Given the description of an element on the screen output the (x, y) to click on. 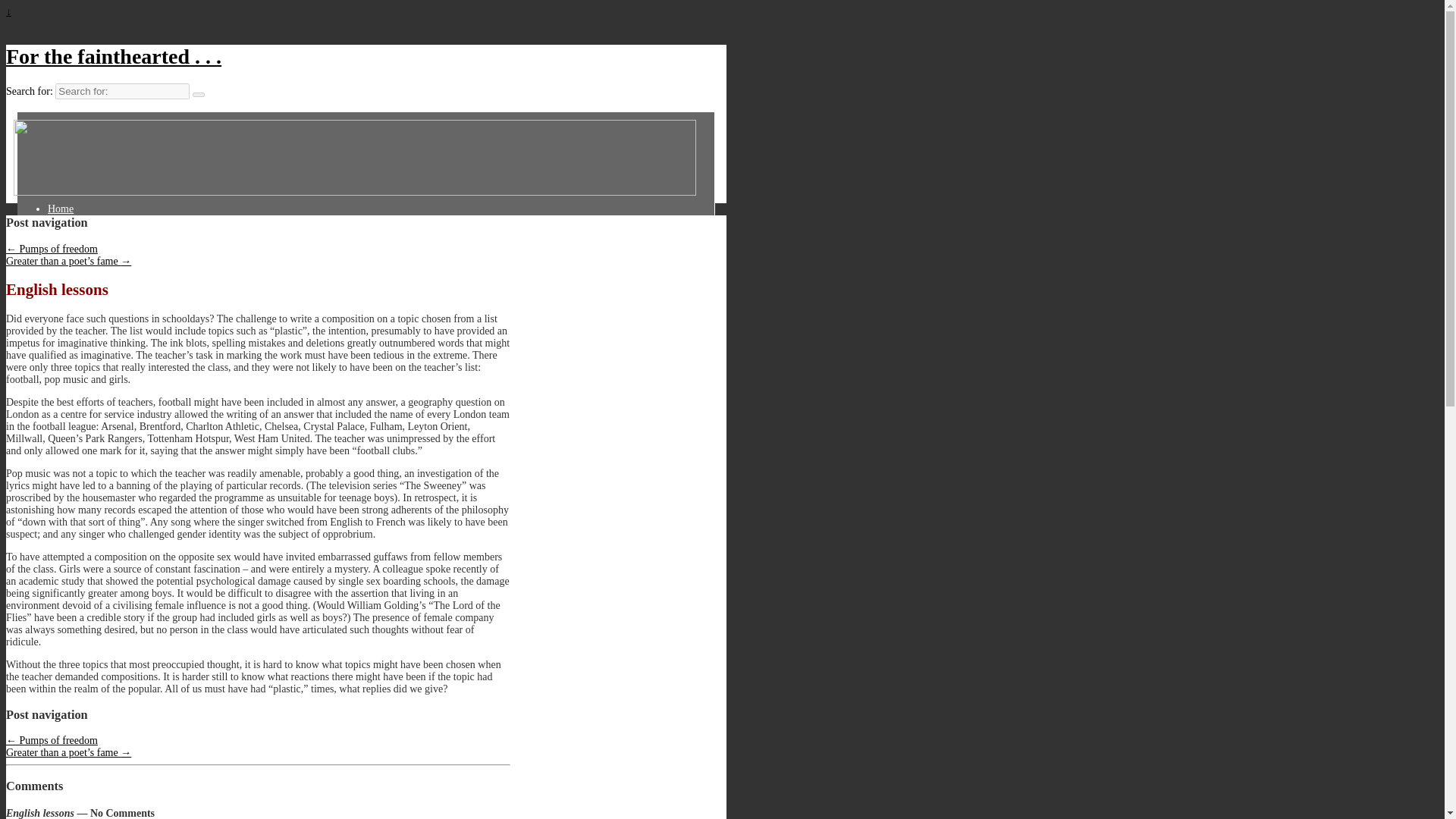
Home (70, 209)
This blog . . . (85, 245)
Ian Poulton (81, 232)
Home (70, 209)
For the fainthearted . . . (113, 56)
For the fainthearted . . . (113, 56)
Comments Policy (94, 220)
